Given the description of an element on the screen output the (x, y) to click on. 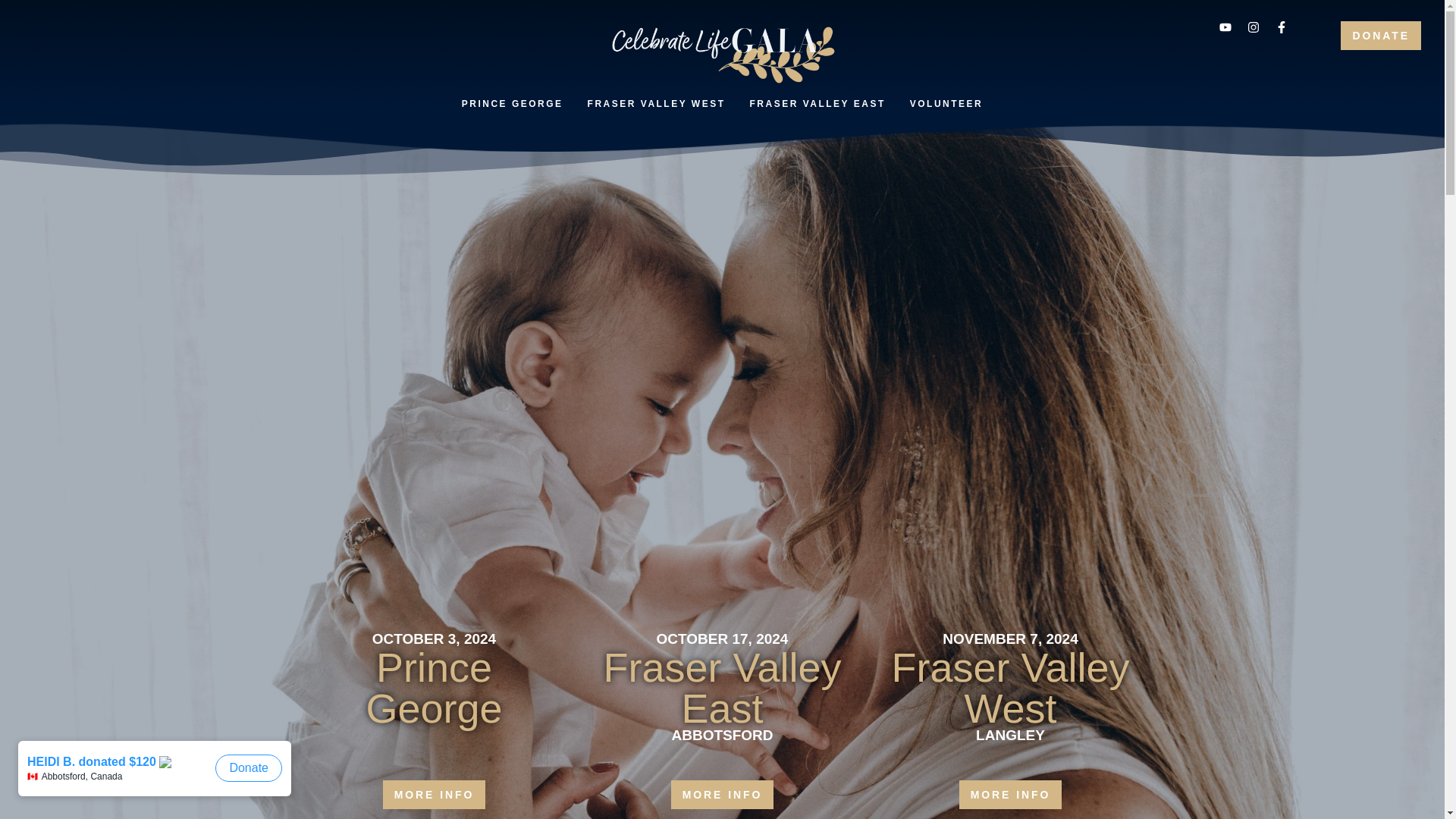
FRASER VALLEY EAST (817, 103)
PRINCE GEORGE (512, 103)
VOLUNTEER (947, 103)
Donation Activity Popup (158, 776)
DONATE (1380, 35)
MORE INFO (722, 794)
MORE INFO (434, 794)
MORE INFO (1010, 794)
FRASER VALLEY WEST (656, 103)
